Given the description of an element on the screen output the (x, y) to click on. 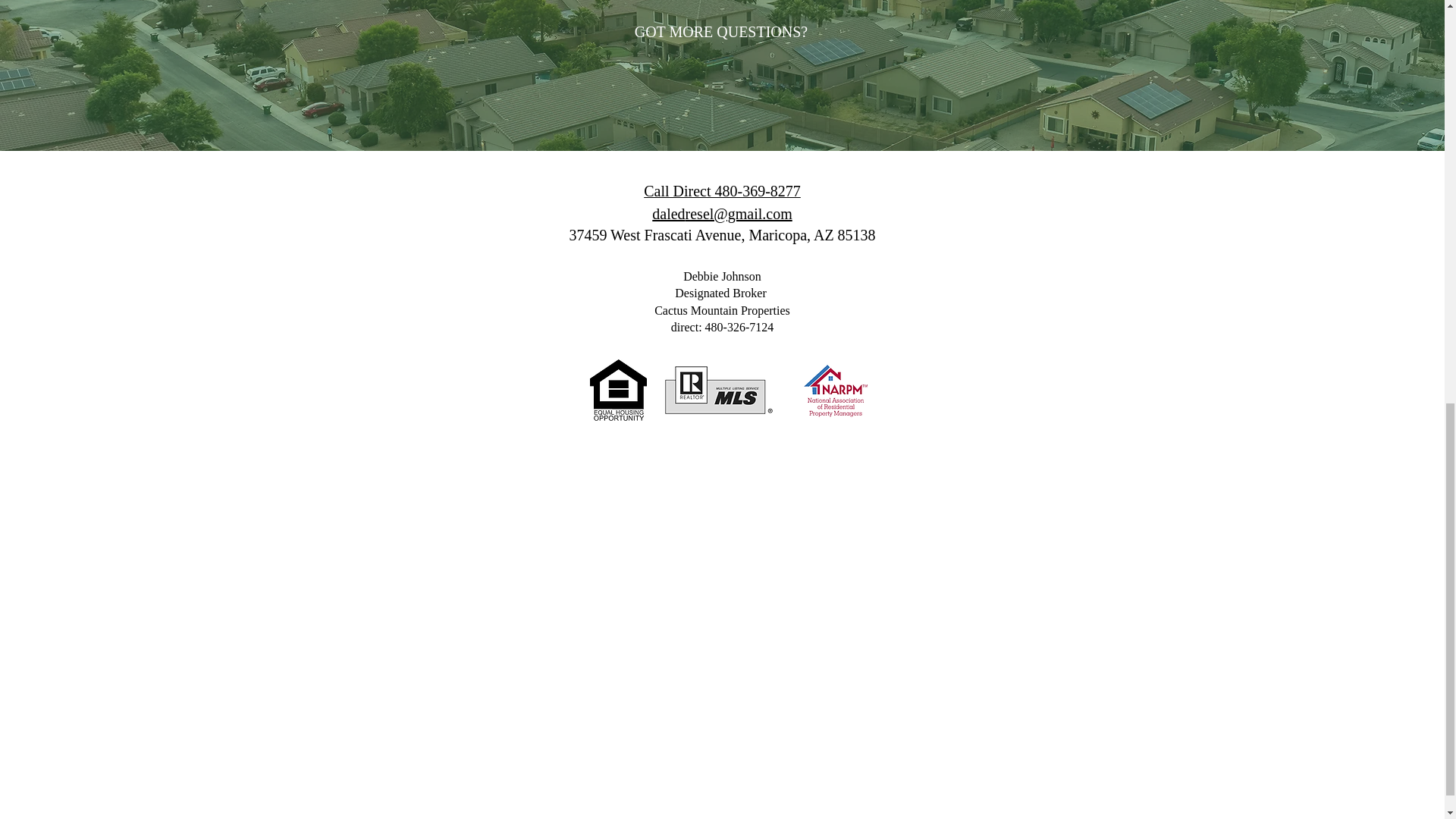
Call Direct 480-369-8277 (721, 190)
